Given the description of an element on the screen output the (x, y) to click on. 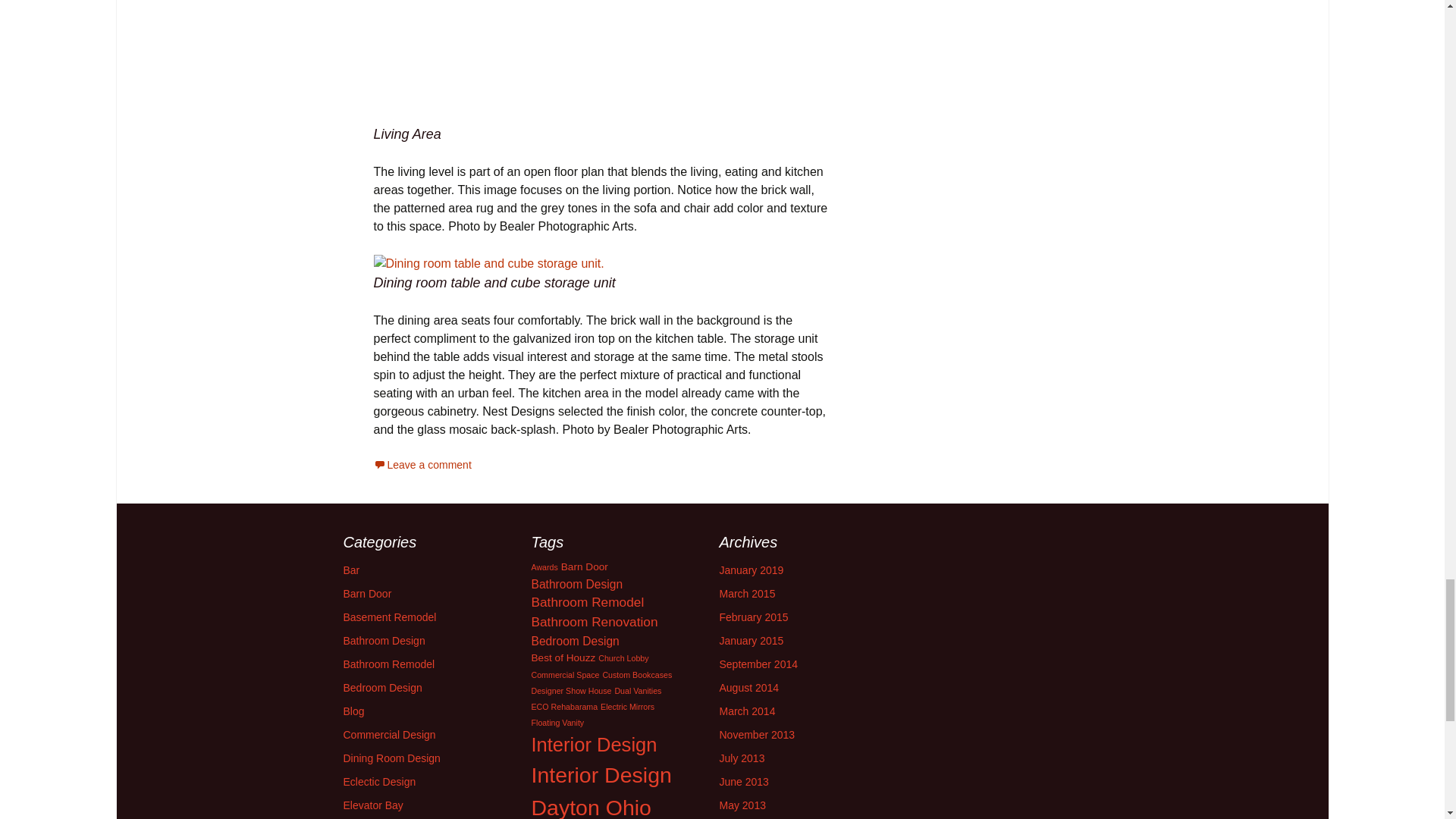
Leave a comment (421, 464)
Dining room table and cube storage unit. (488, 263)
Living area  (601, 62)
